Given the description of an element on the screen output the (x, y) to click on. 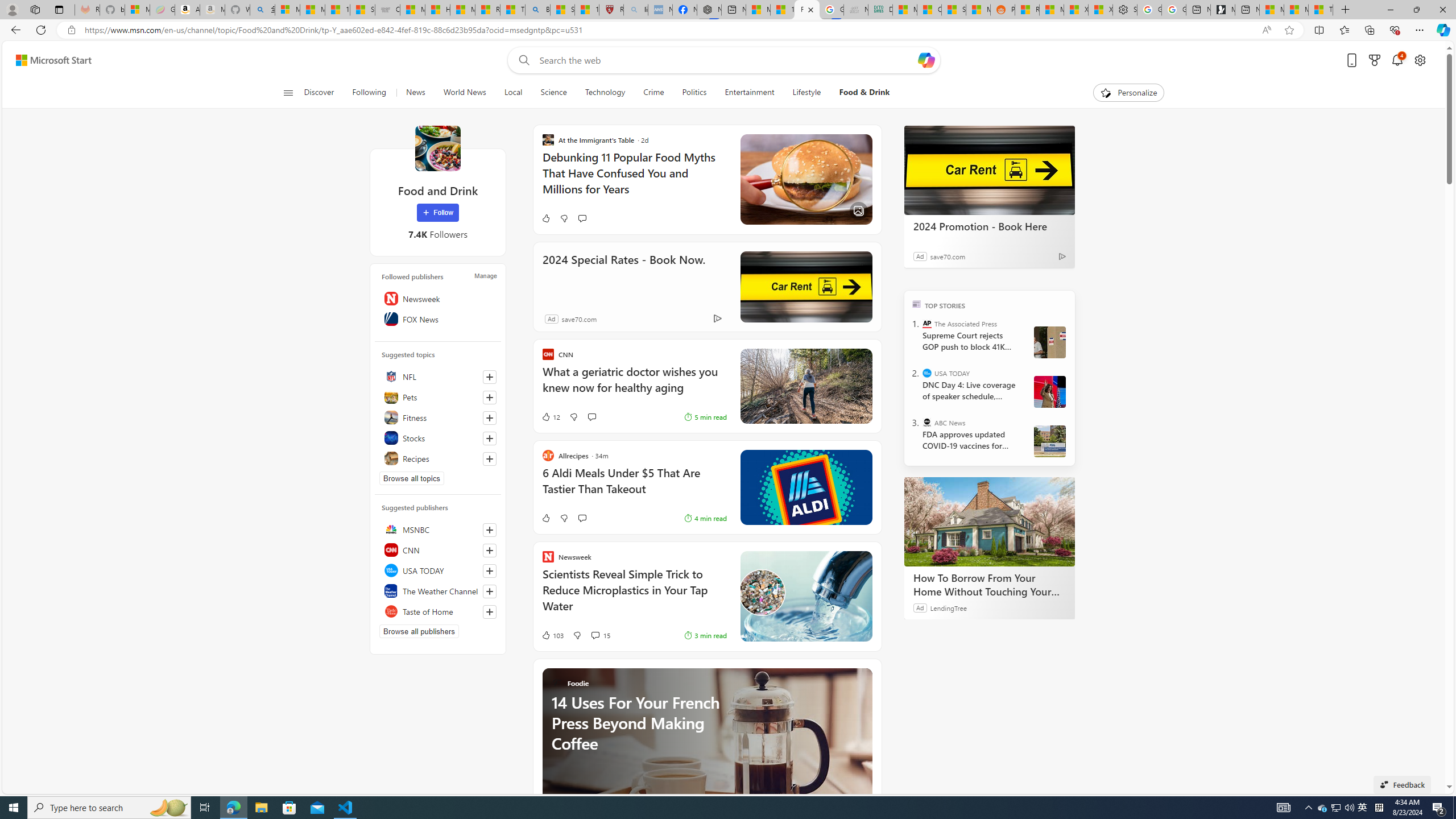
Enter your search term (726, 59)
Follow this source (489, 611)
6 Aldi Meals Under $5 That Are Tastier Than Takeout (633, 486)
